Given the description of an element on the screen output the (x, y) to click on. 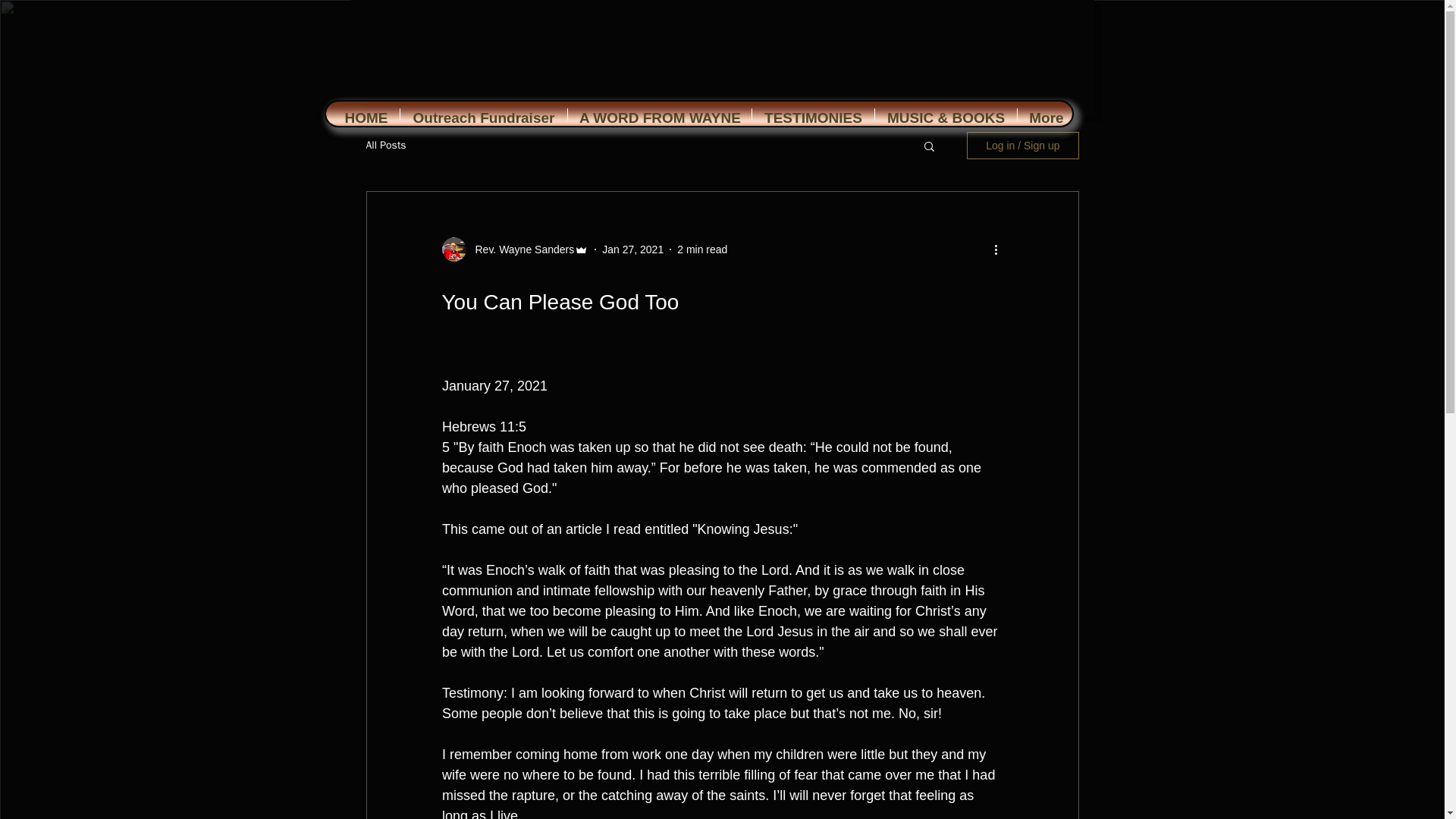
A WORD FROM WAYNE (659, 114)
2 min read (701, 248)
Rev. Wayne Sanders (519, 248)
All Posts (385, 145)
HOME (365, 114)
Outreach Fundraiser (483, 114)
Menu bar.jpg (699, 113)
Jan 27, 2021 (632, 248)
TESTIMONIES (813, 114)
